Given the description of an element on the screen output the (x, y) to click on. 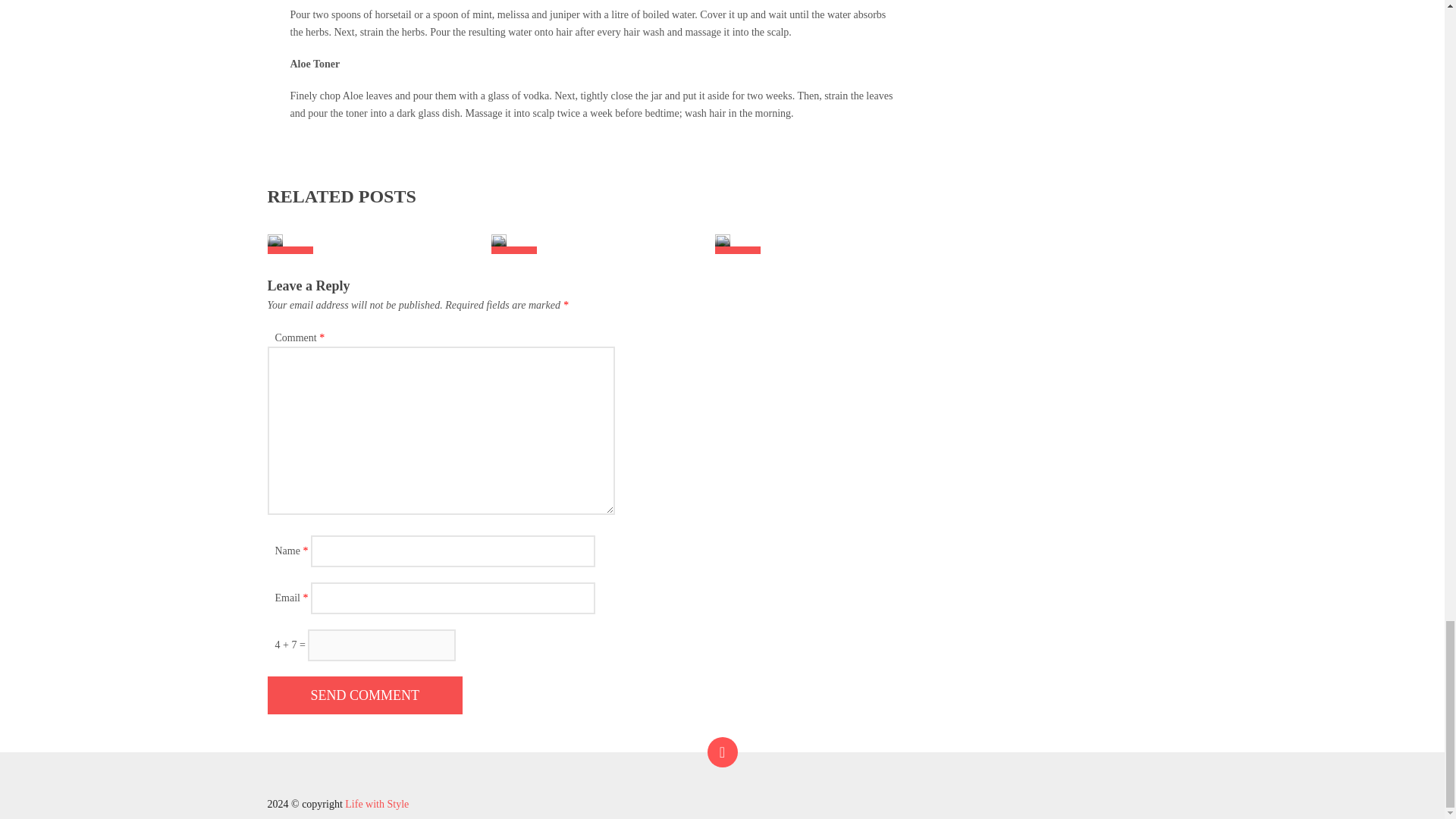
Life with Style (377, 803)
Send comment (364, 695)
Where and how to store cosmetics properly? (514, 244)
10 Causes that Keep Hair from Growing (737, 244)
Send comment (364, 695)
a New Definition of Beauty (377, 803)
